Given the description of an element on the screen output the (x, y) to click on. 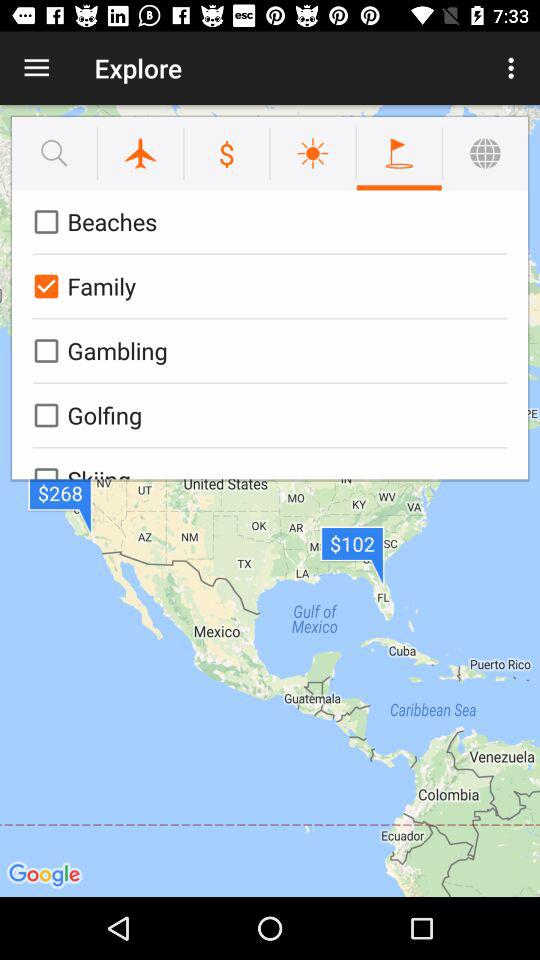
swipe to family icon (266, 286)
